Given the description of an element on the screen output the (x, y) to click on. 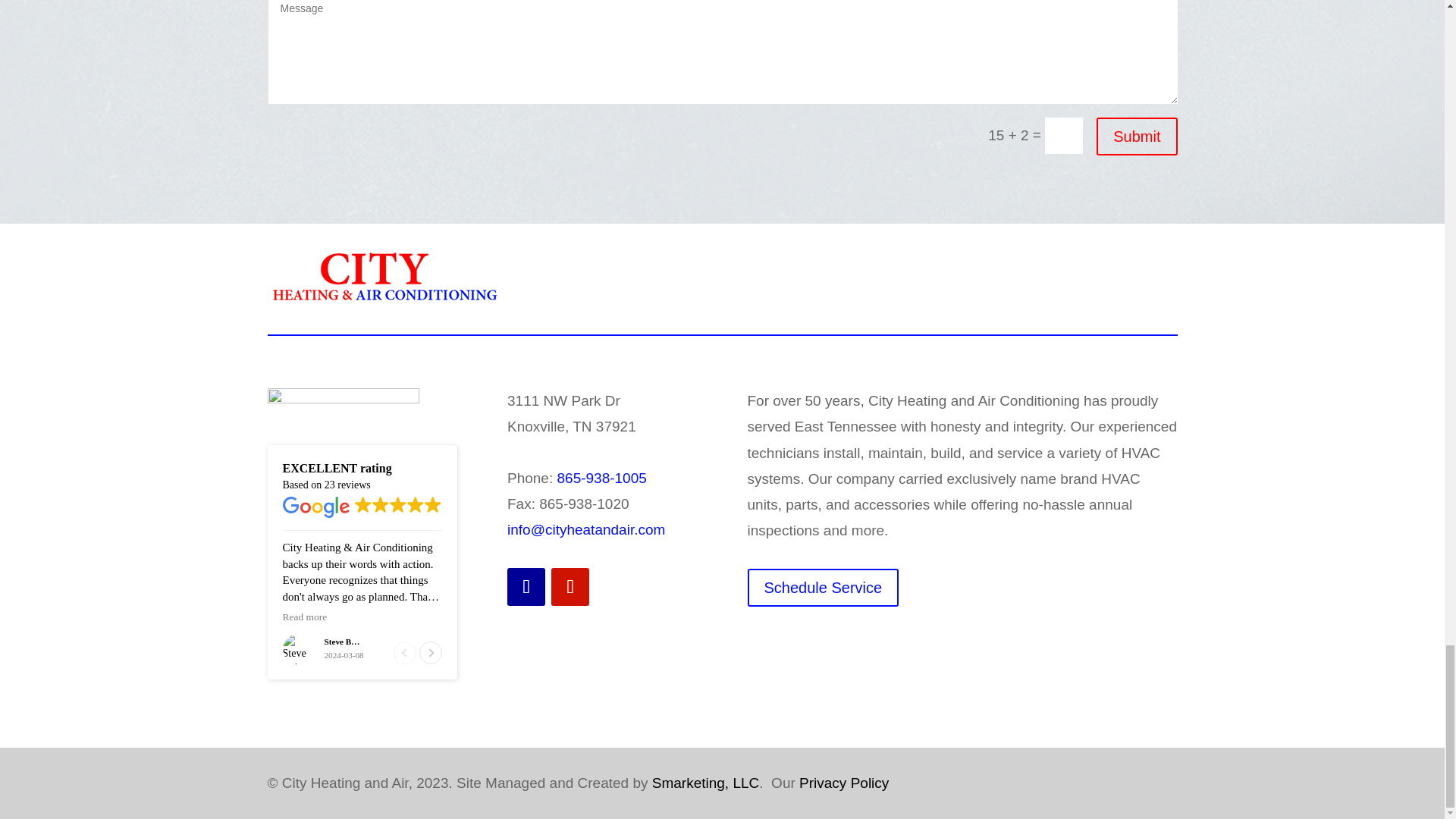
Smarketing LLC Website (706, 782)
Follow on Facebook (525, 587)
View our privacy policy. (843, 782)
Schedule Service (823, 587)
Submit (1136, 136)
Follow on Instagram (570, 587)
865-938-1005 (601, 478)
Privacy Policy (843, 782)
Smarketing, LLC (706, 782)
